Given the description of an element on the screen output the (x, y) to click on. 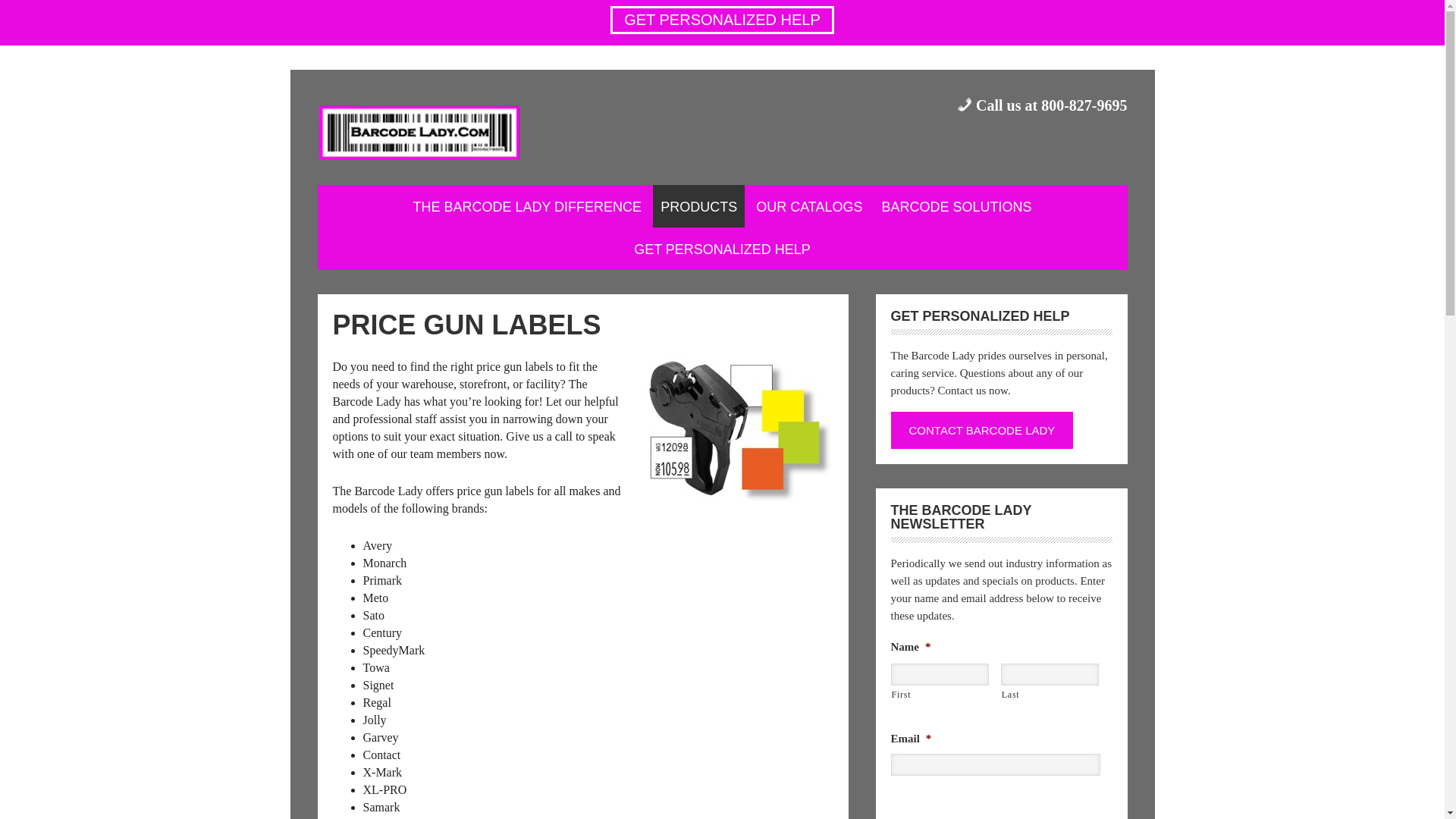
BARCODE SOLUTIONS (957, 206)
THE BARCODE LADY (430, 134)
PRODUCTS (698, 206)
GET PERSONALIZED HELP (722, 19)
800-827-9695 (1083, 105)
OUR CATALOGS (808, 206)
GET PERSONALIZED HELP (722, 248)
CONTACT BARCODE LADY (981, 429)
THE BARCODE LADY DIFFERENCE (526, 206)
